Given the description of an element on the screen output the (x, y) to click on. 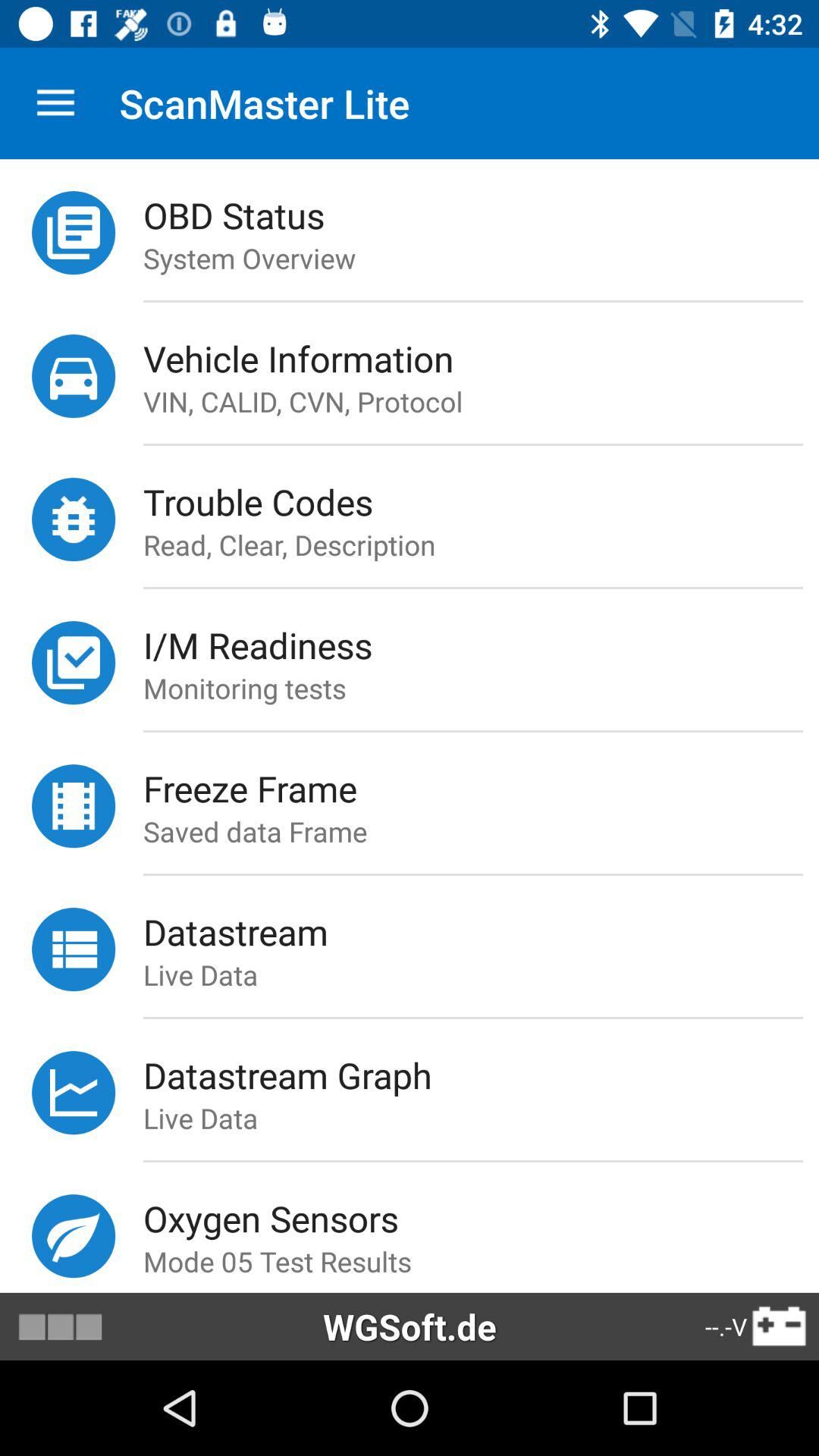
turn on the item above datastream graph (473, 1017)
